Given the description of an element on the screen output the (x, y) to click on. 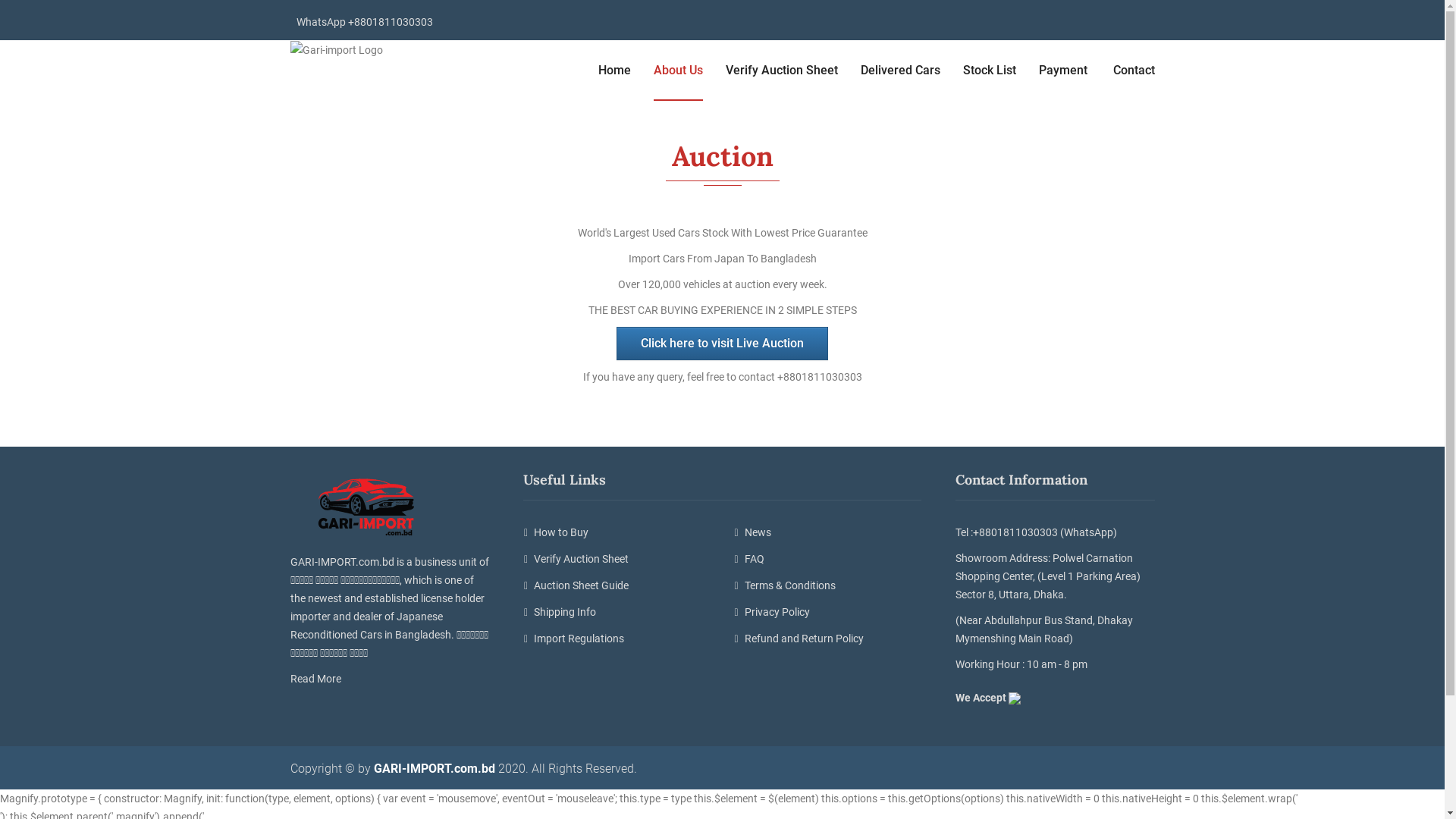
Refund and Return Policy Element type: text (828, 638)
FAQ Element type: text (828, 558)
Payment Element type: text (1064, 70)
Privacy Policy Element type: text (828, 611)
How to Buy Element type: text (617, 532)
Shipping Info Element type: text (617, 611)
Stock List Element type: text (989, 70)
Contact Element type: text (1133, 70)
Verify Auction Sheet Element type: text (780, 70)
Click here to visit Live Auction Element type: text (722, 343)
Terms & Conditions Element type: text (828, 585)
Verify Auction Sheet Element type: text (617, 558)
Read More Element type: text (317, 678)
About Us Element type: text (677, 70)
Auction Sheet Guide Element type: text (617, 585)
News Element type: text (828, 532)
Import Regulations Element type: text (617, 638)
Delivered Cars Element type: text (899, 70)
Home Element type: text (613, 70)
